Given the description of an element on the screen output the (x, y) to click on. 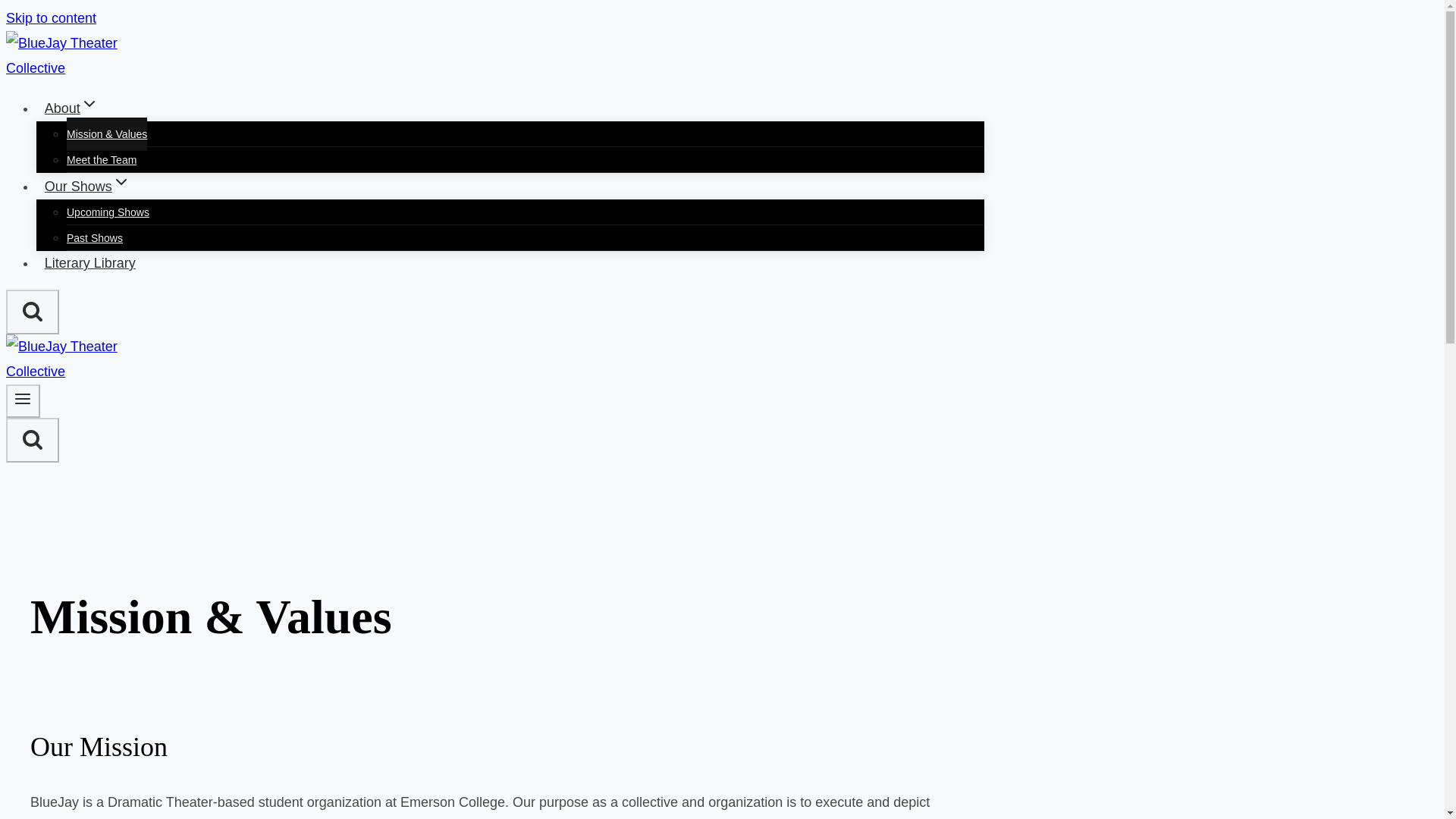
Search (32, 439)
Search (32, 310)
Skip to content (50, 17)
Meet the Team (101, 159)
Upcoming Shows (107, 212)
Search (32, 438)
Past Shows (94, 237)
Toggle Menu (22, 400)
AboutExpand (71, 108)
Toggle Menu (22, 398)
